Given the description of an element on the screen output the (x, y) to click on. 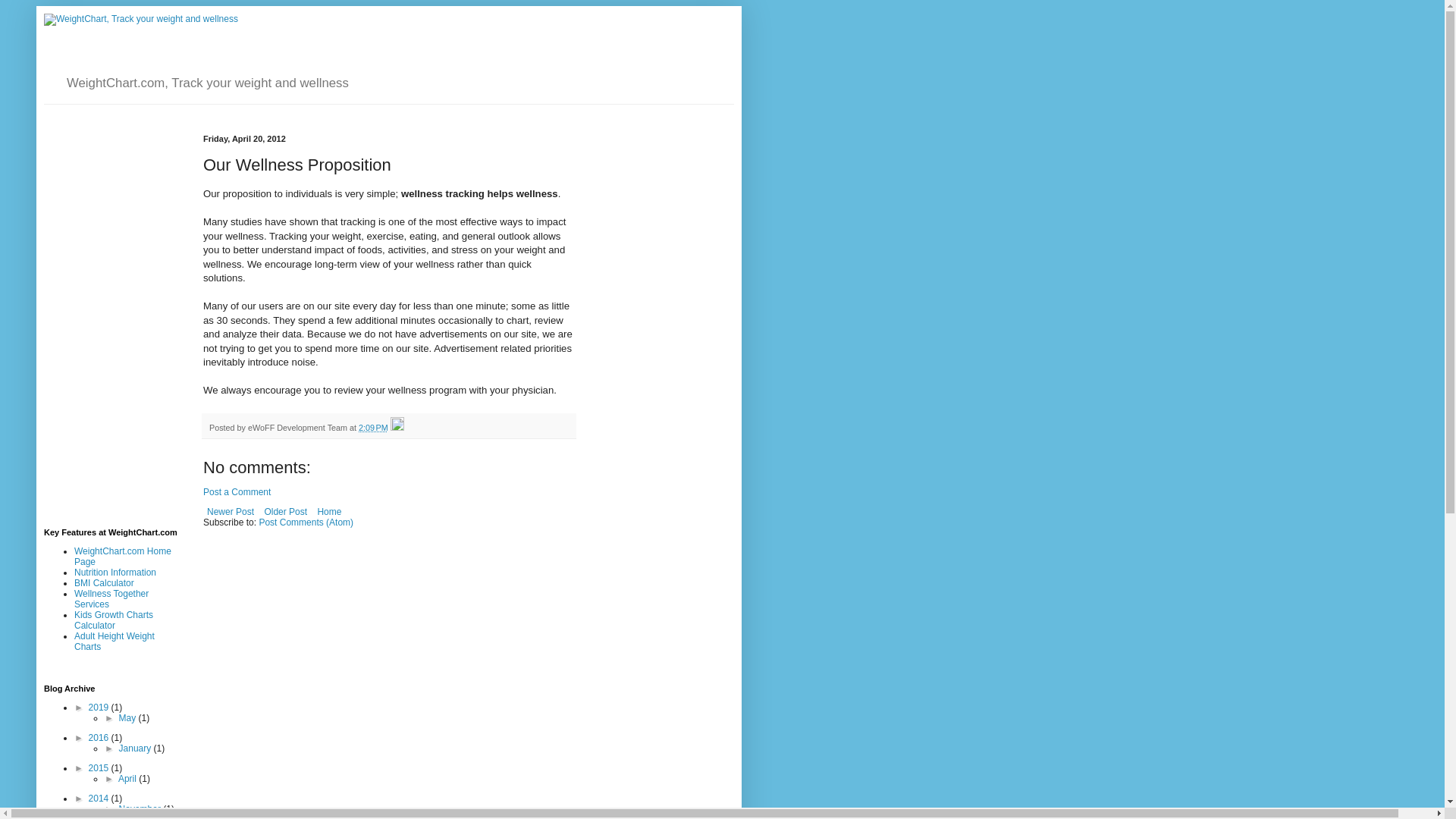
May (128, 717)
2019 (100, 706)
2014 (100, 798)
WeightChart.com Home Page (122, 556)
BMI Calculator (103, 583)
2015 (100, 767)
Nutrition Information (114, 572)
2016 (100, 737)
Newer Post (230, 511)
permanent link (373, 427)
